Given the description of an element on the screen output the (x, y) to click on. 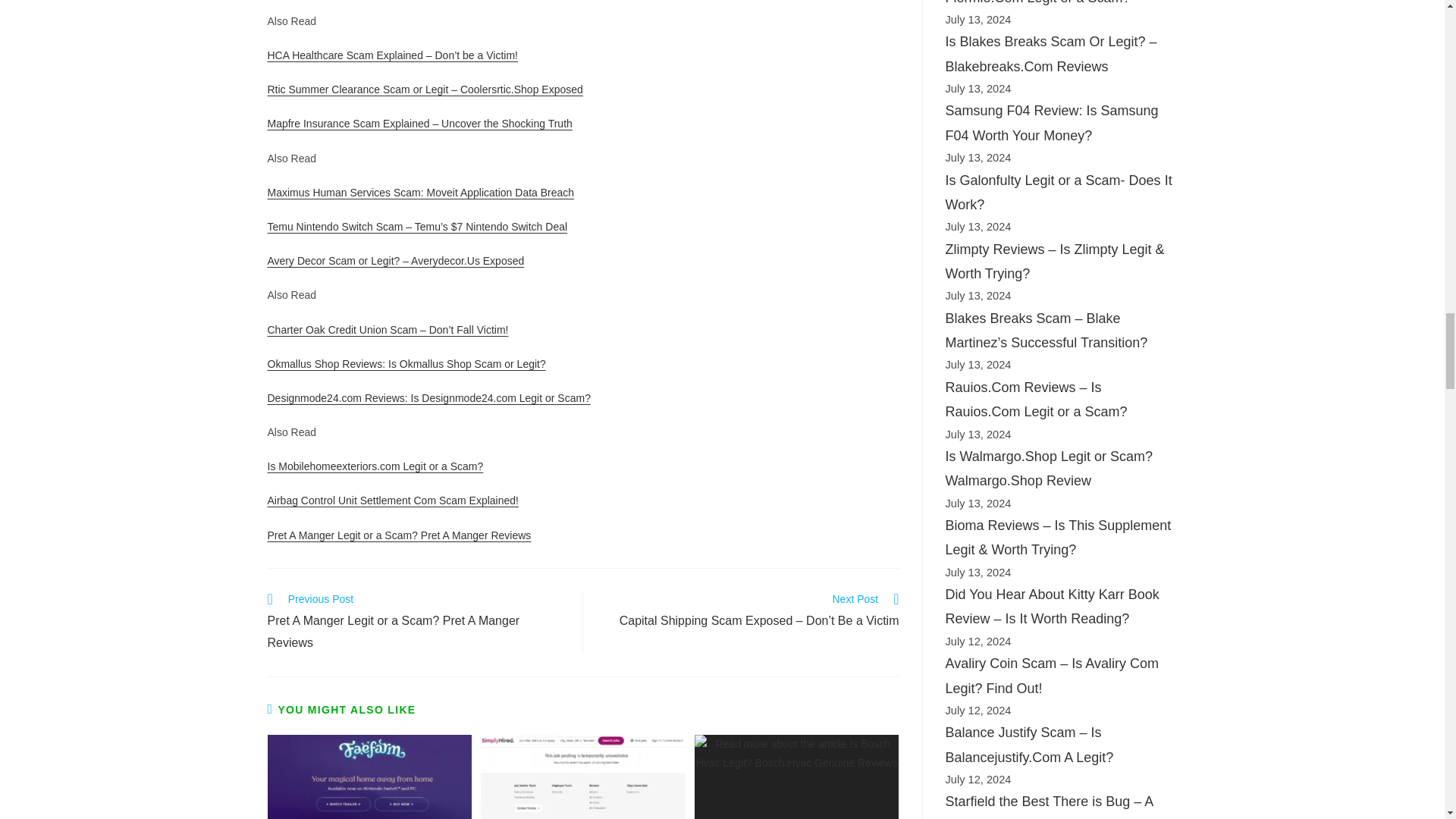
Is Bosch Hvac Legit? Bosch Hvac Genuine Reviews (796, 776)
Maximus Human Services Scam: Moveit Application Data Breach (419, 192)
Digiprint Ink Ltd Careers Scam or Legit? Shocking Truth! (582, 776)
Shell Bits Fae Farm: Discover the Hidden Treasures (368, 776)
